Given the description of an element on the screen output the (x, y) to click on. 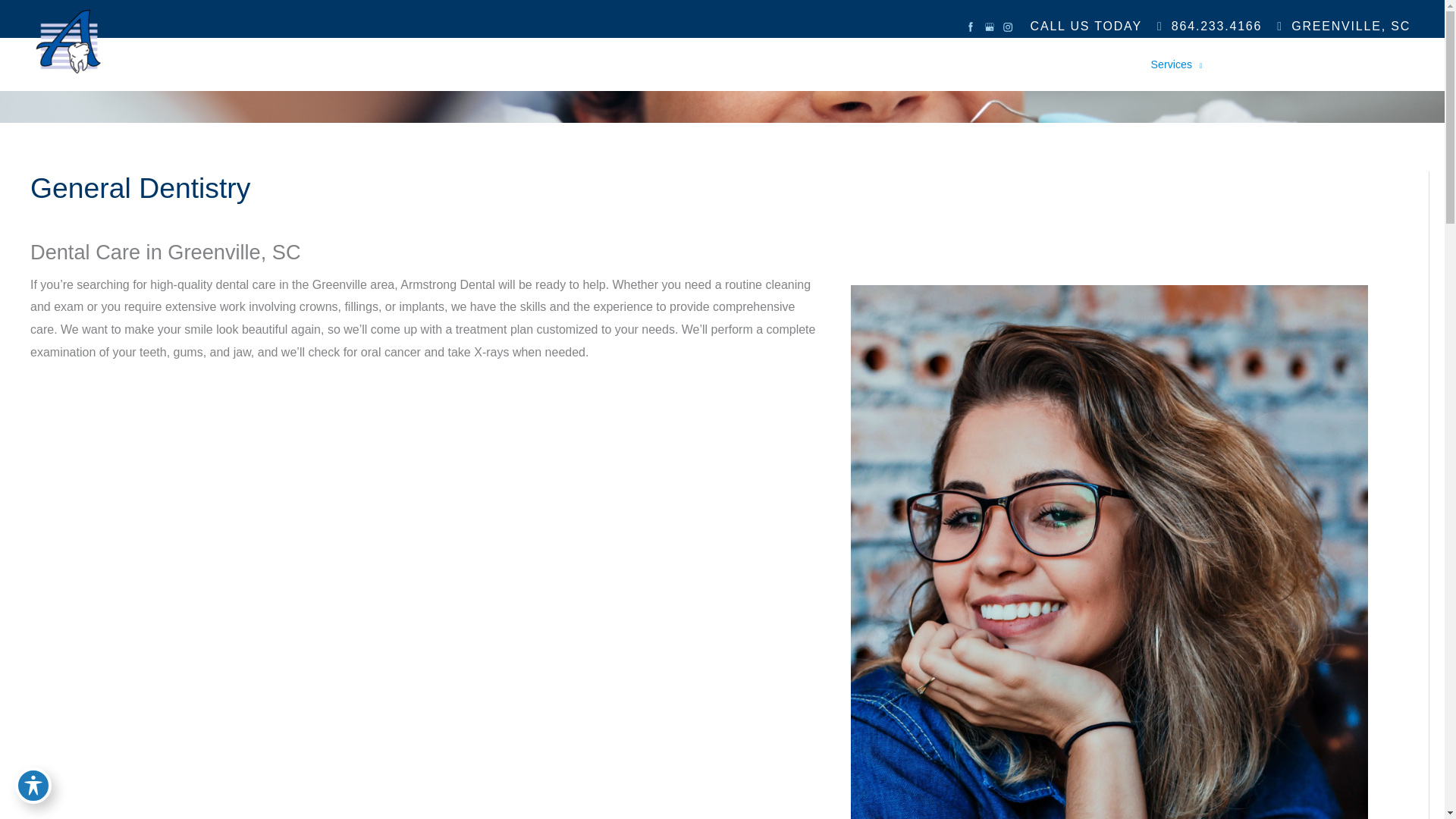
adult beautiful blond hair 1130626 1 (1109, 671)
Services (1177, 63)
Patient Portal (1374, 63)
Gallery (1242, 63)
GREENVILLE, SC (1343, 25)
Contact (1300, 63)
About (1112, 63)
864.233.4166 (1209, 25)
